Given the description of an element on the screen output the (x, y) to click on. 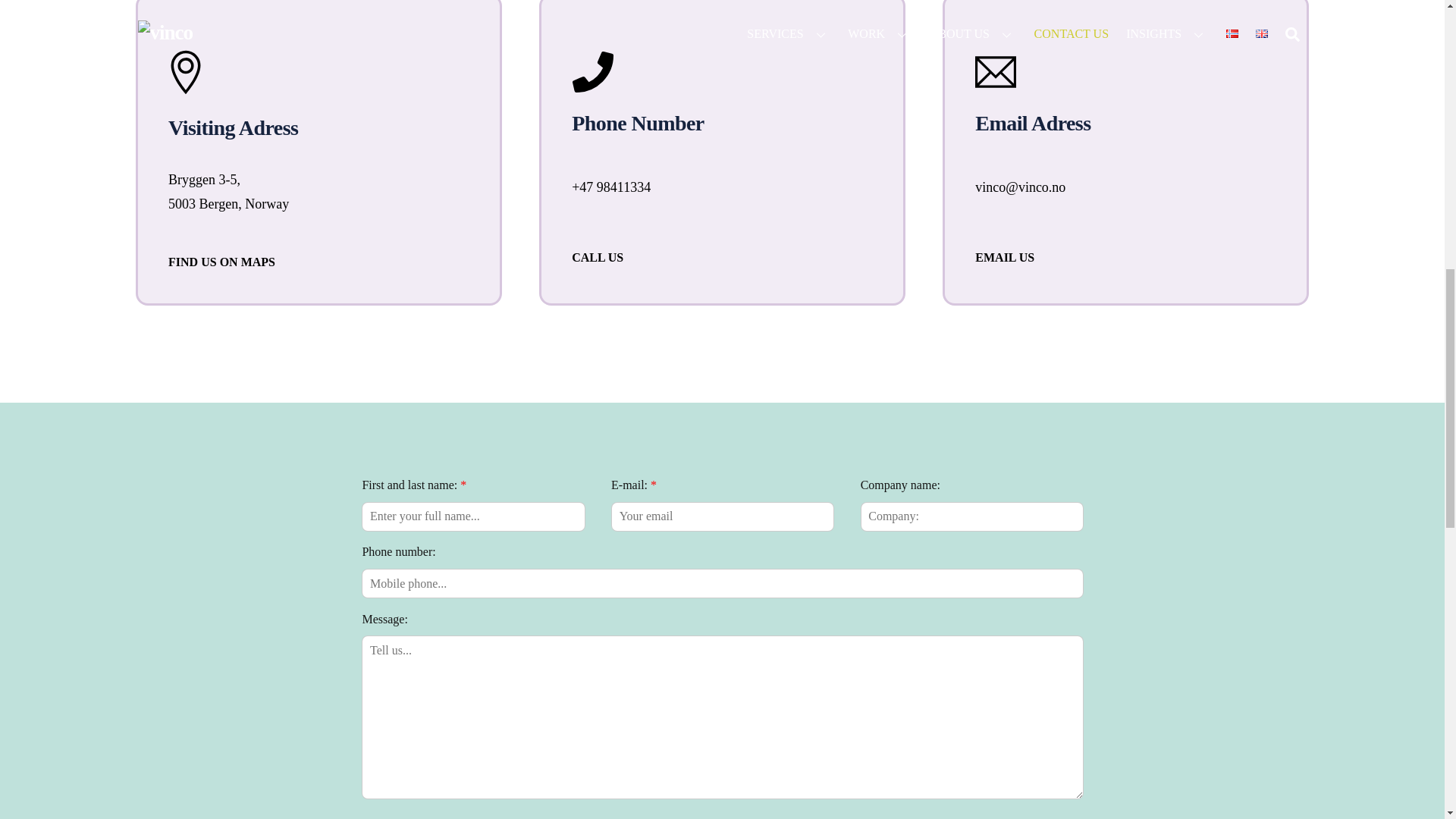
EMAIL US (1004, 256)
FIND US ON MAPS (221, 261)
CALL US (597, 256)
